Given the description of an element on the screen output the (x, y) to click on. 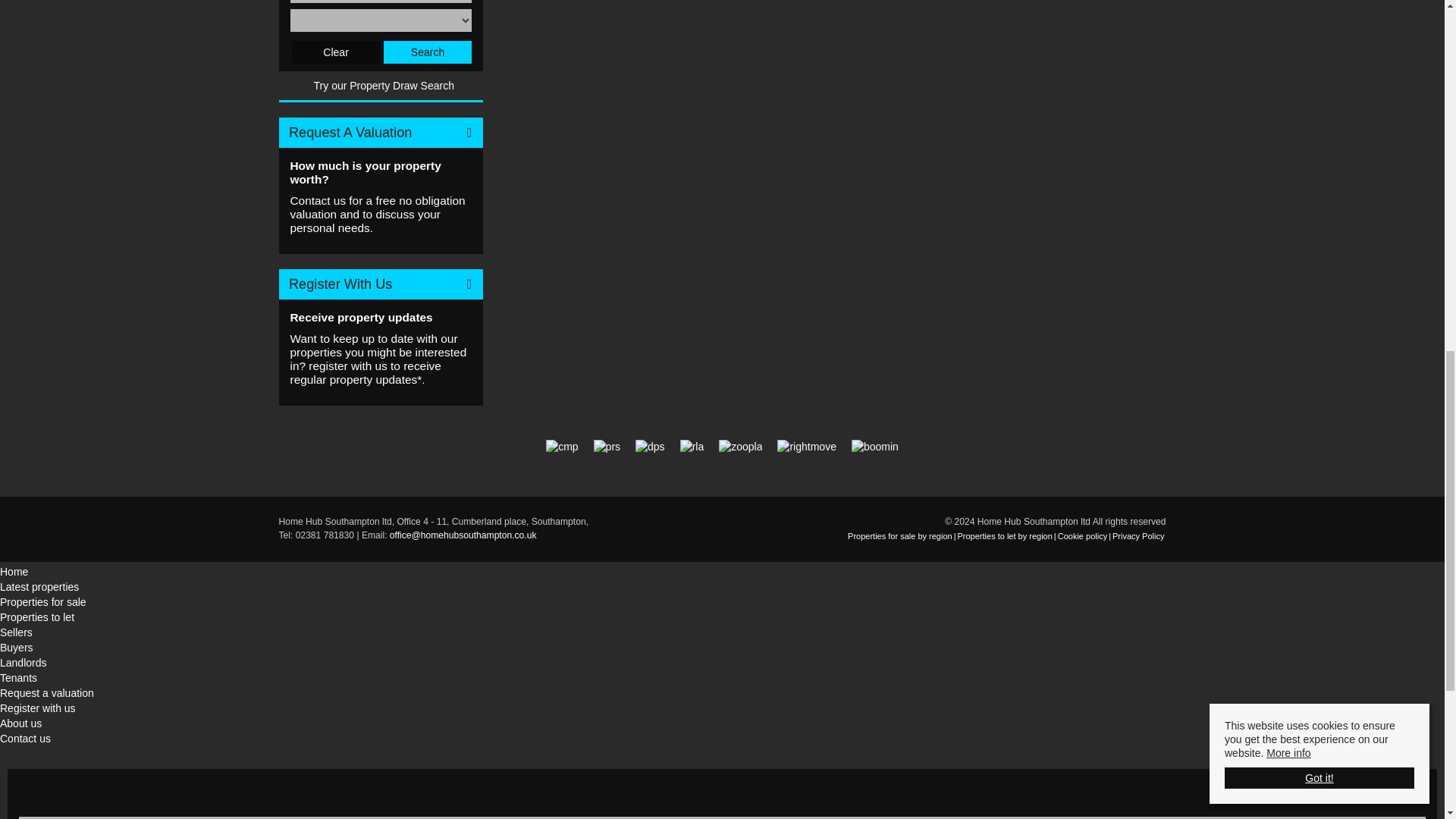
Properties to let by region (1004, 535)
Privacy Policy (1138, 535)
Search (427, 51)
Properties for sale by region (900, 535)
Clear (336, 51)
Cookie policy (1082, 535)
  Try our Property Draw Search (381, 86)
